Given the description of an element on the screen output the (x, y) to click on. 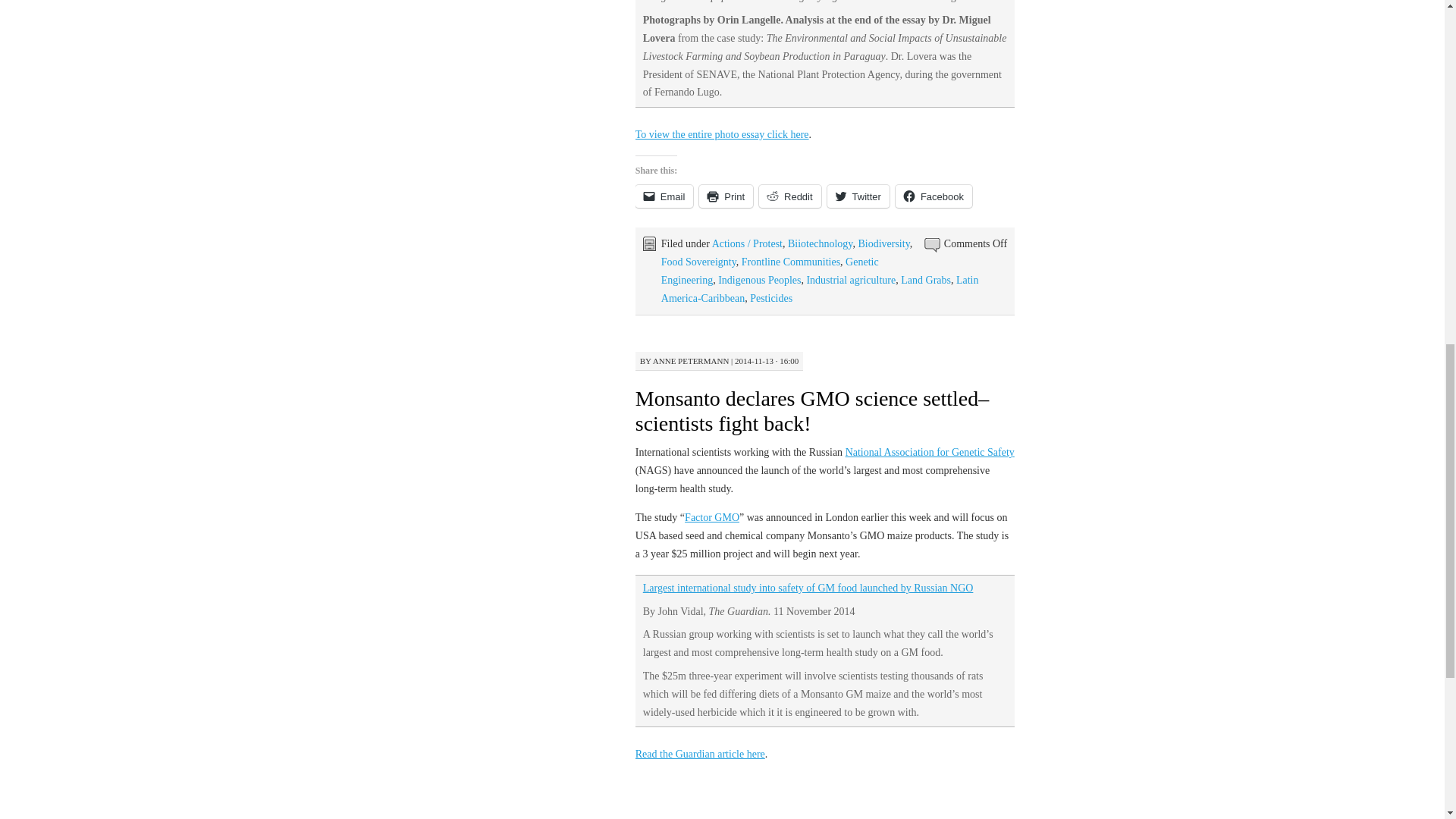
Read the Guardian article here (699, 754)
National Association for Genetic Safety (929, 451)
Latin America-Caribbean (819, 288)
Email (664, 196)
Industrial agriculture (850, 279)
Click to share on Facebook (933, 196)
Reddit (789, 196)
Twitter (858, 196)
Genetic Engineering (770, 270)
Food Sovereignty (698, 261)
